Given the description of an element on the screen output the (x, y) to click on. 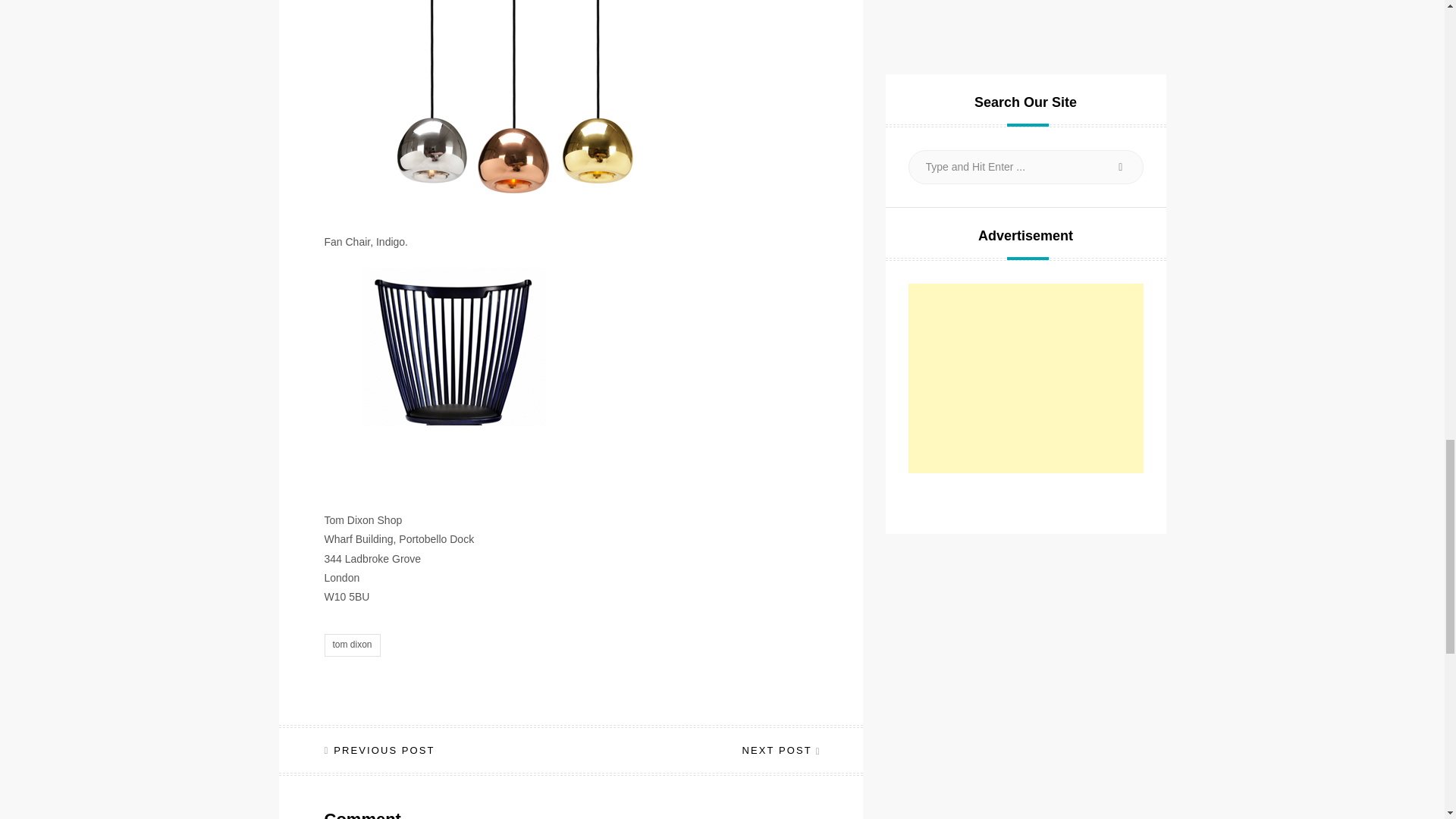
tom dixon (352, 644)
Tom Dixon's London Shop at Ladbroke Grove (513, 108)
PREVIOUS POST (379, 749)
Tom Dixon's London Shop at Ladbroke Grove (513, 381)
NEXT POST (778, 749)
